Given the description of an element on the screen output the (x, y) to click on. 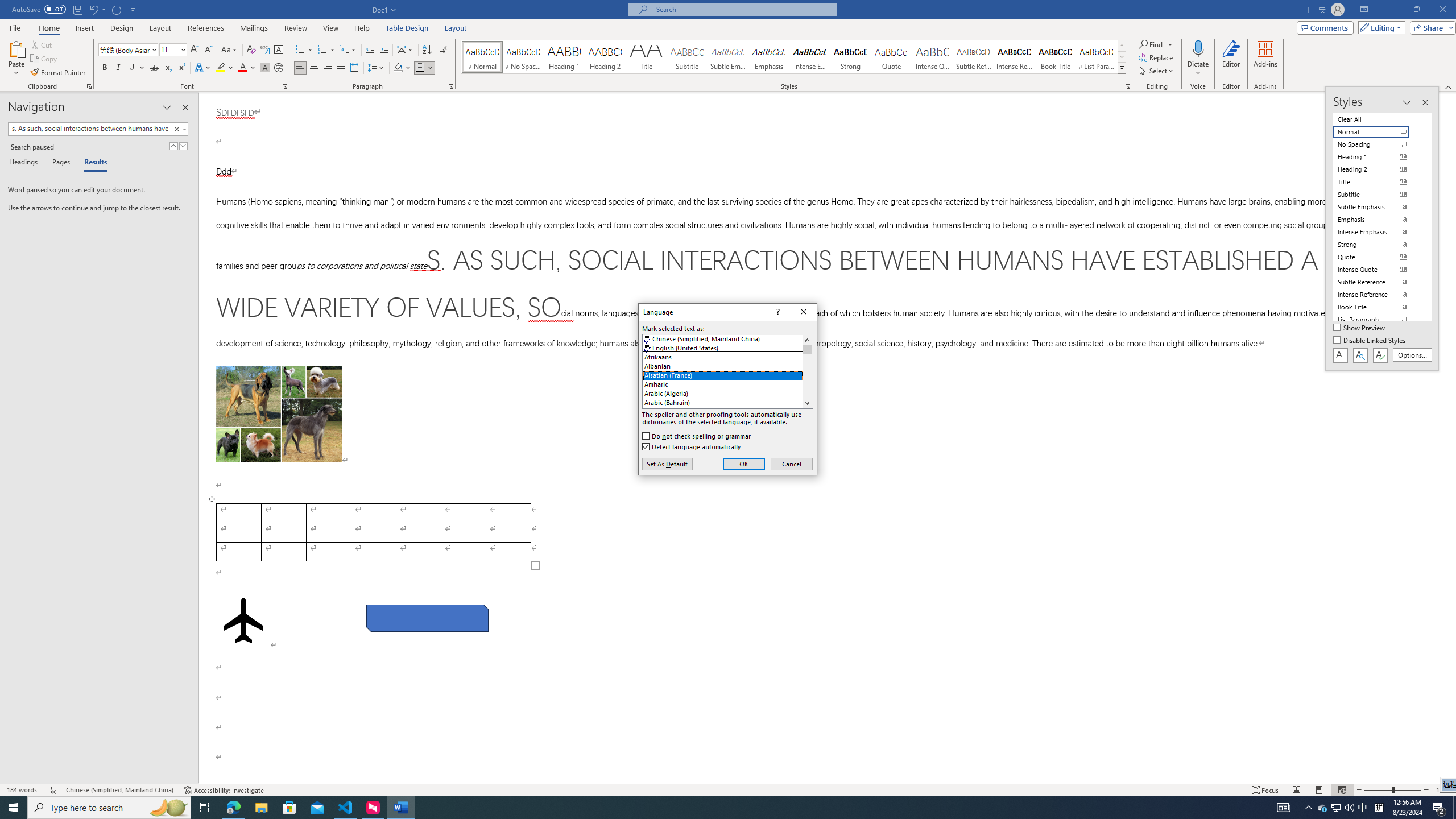
Row Down (1121, 56)
Previous Result (173, 145)
Headings (1335, 807)
Layout (25, 162)
Italic (455, 28)
Search document (118, 67)
Word - 1 running window (89, 128)
Spelling and Grammar Check Errors (400, 807)
Table Design (52, 790)
Undo Style (1322, 807)
Class: NetUIImage (407, 28)
